Given the description of an element on the screen output the (x, y) to click on. 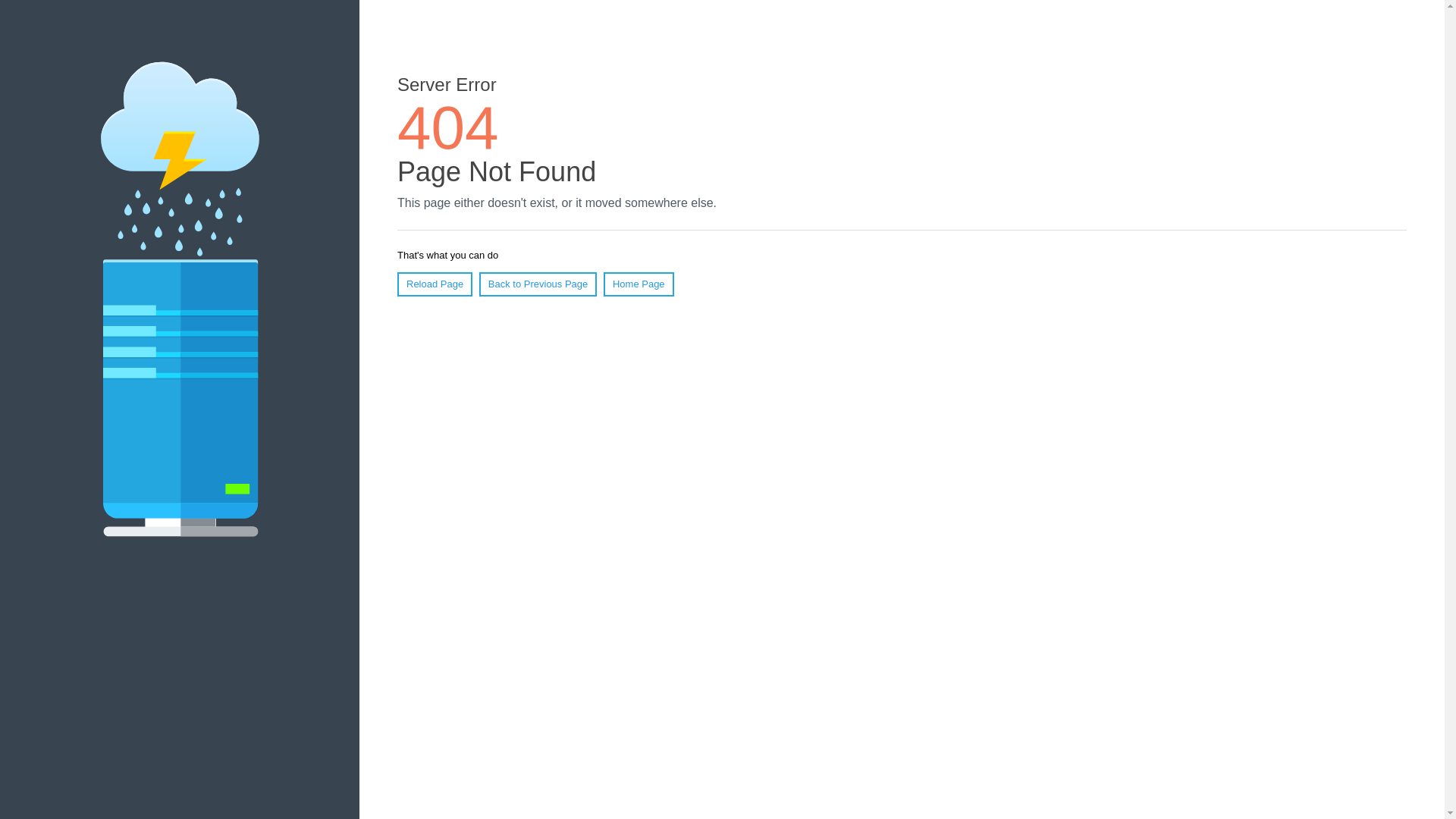
Back to Previous Page Element type: text (538, 284)
Reload Page Element type: text (434, 284)
Home Page Element type: text (638, 284)
